Given the description of an element on the screen output the (x, y) to click on. 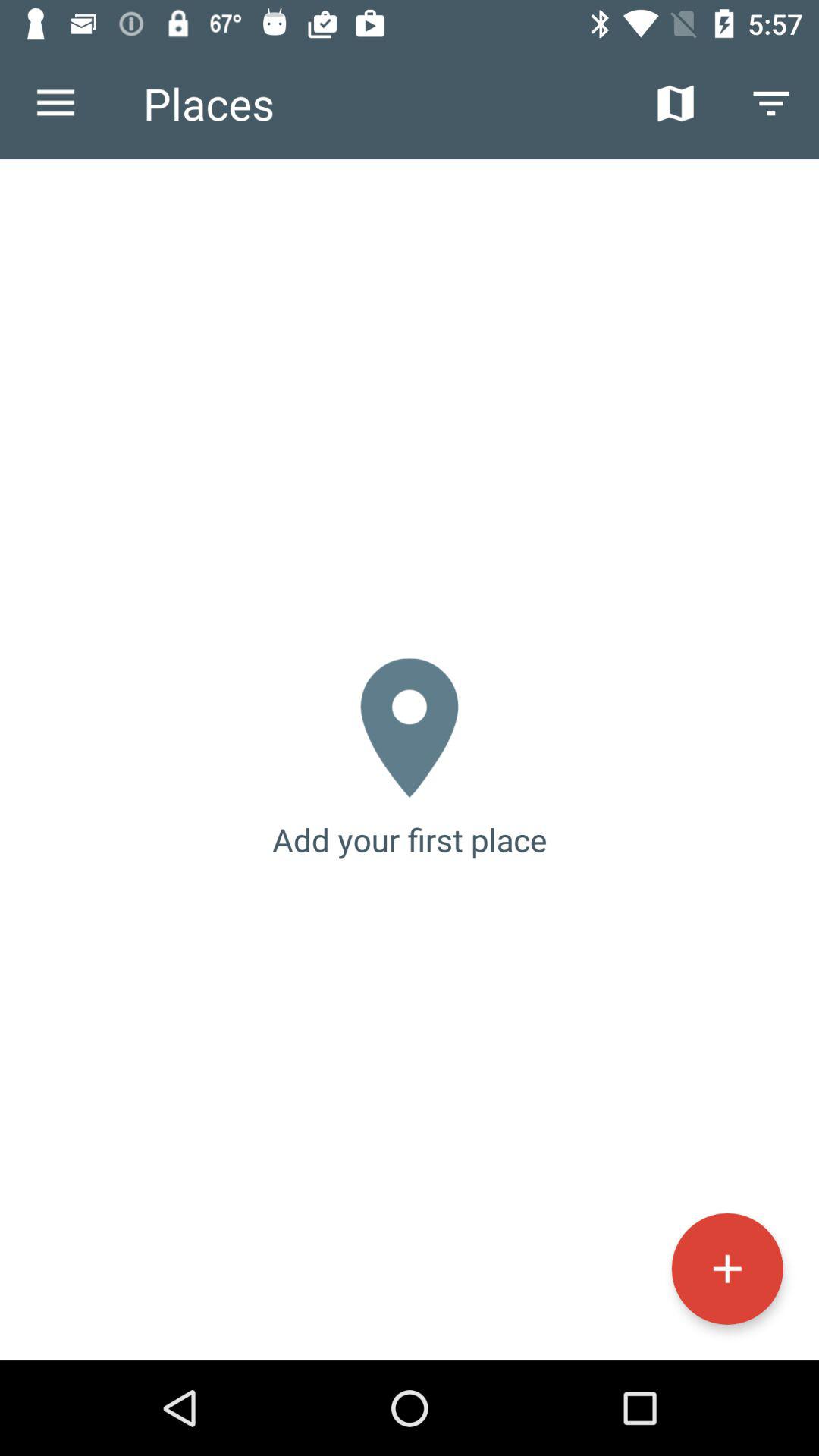
add new place (727, 1268)
